Given the description of an element on the screen output the (x, y) to click on. 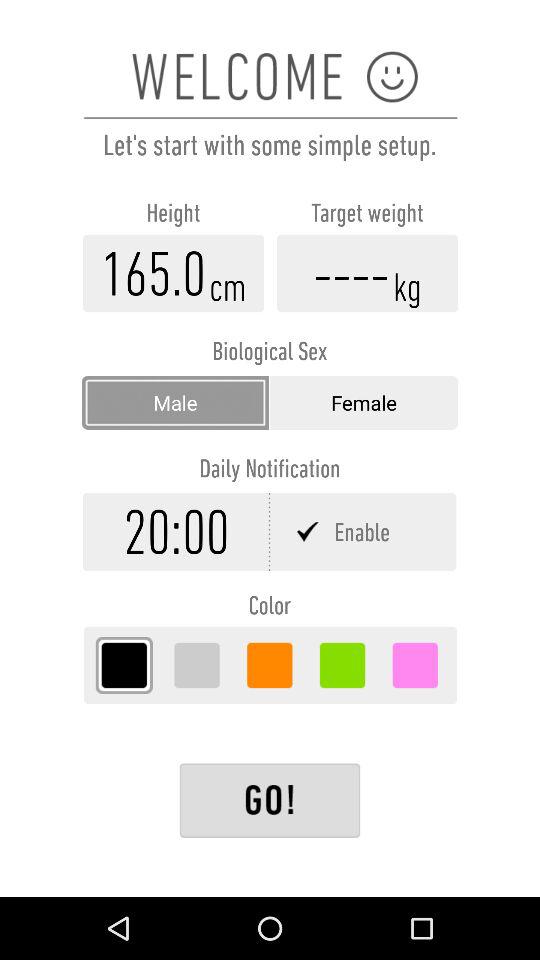
enter height (173, 273)
